Given the description of an element on the screen output the (x, y) to click on. 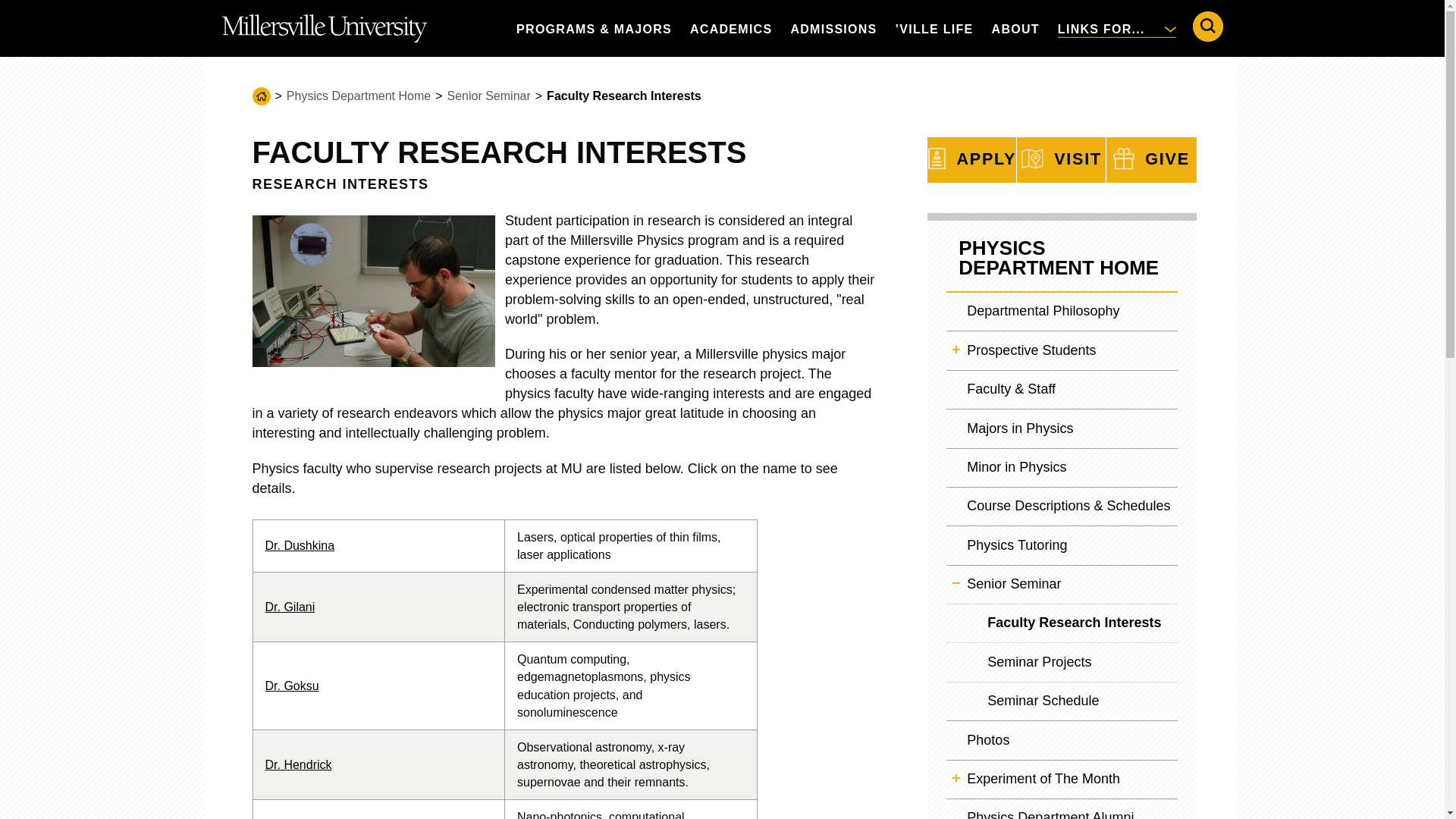
Academics (730, 28)
What are you looking for? (1207, 26)
ABOUT (1015, 28)
ADMISSIONS (832, 28)
ACADEMICS (730, 28)
Millersville University Home Page (323, 28)
Admissions (832, 28)
Millersville University Home Page (323, 28)
LINKS FOR... (1116, 28)
